Given the description of an element on the screen output the (x, y) to click on. 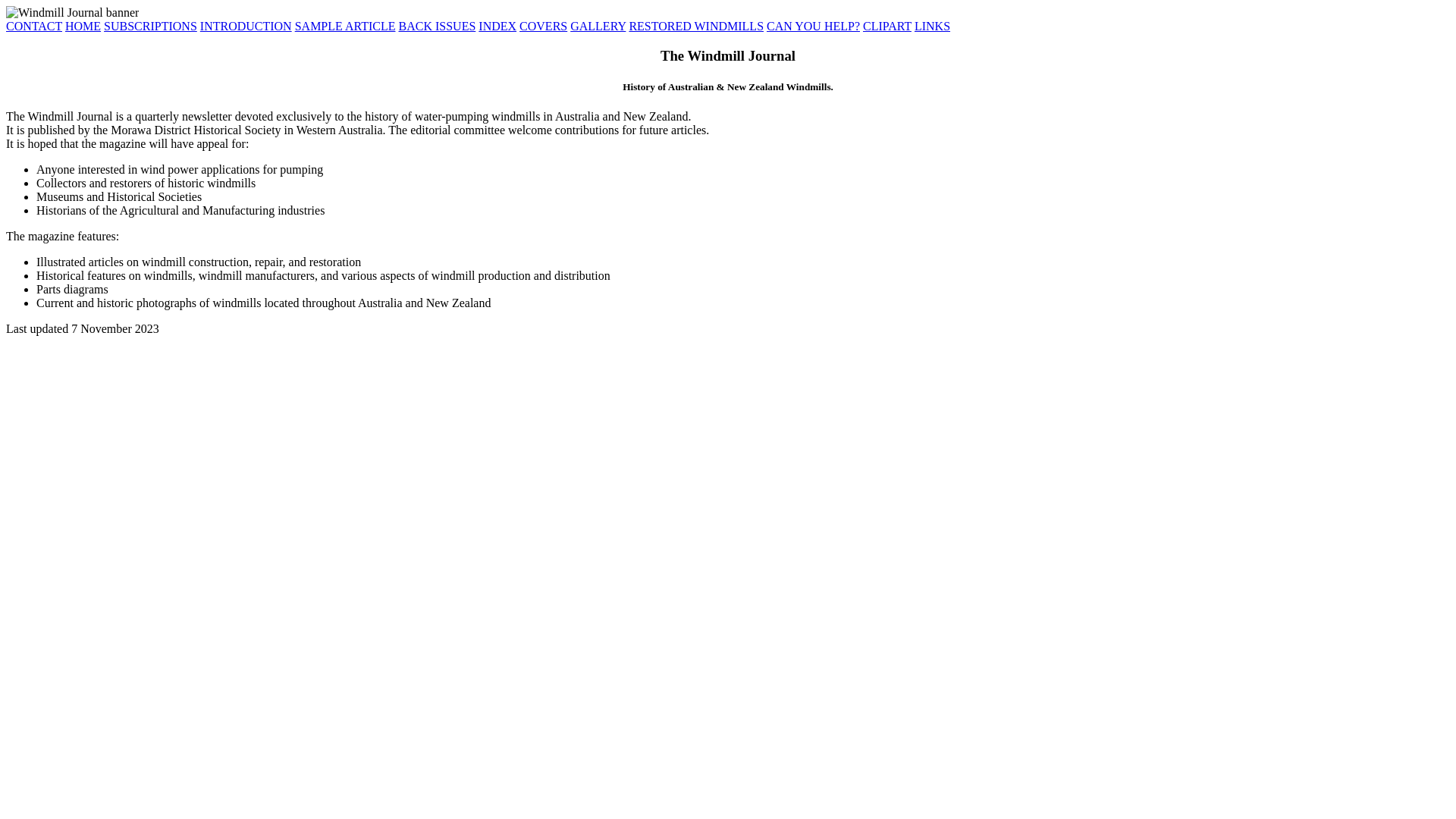
GALLERY Element type: text (597, 25)
HOME Element type: text (82, 25)
CONTACT Element type: text (34, 25)
SAMPLE ARTICLE Element type: text (344, 25)
COVERS Element type: text (543, 25)
LINKS Element type: text (932, 25)
INTRODUCTION Element type: text (245, 25)
SUBSCRIPTIONS Element type: text (150, 25)
RESTORED WINDMILLS Element type: text (695, 25)
CAN YOU HELP? Element type: text (812, 25)
INDEX Element type: text (497, 25)
BACK ISSUES Element type: text (437, 25)
CLIPART Element type: text (886, 25)
